Given the description of an element on the screen output the (x, y) to click on. 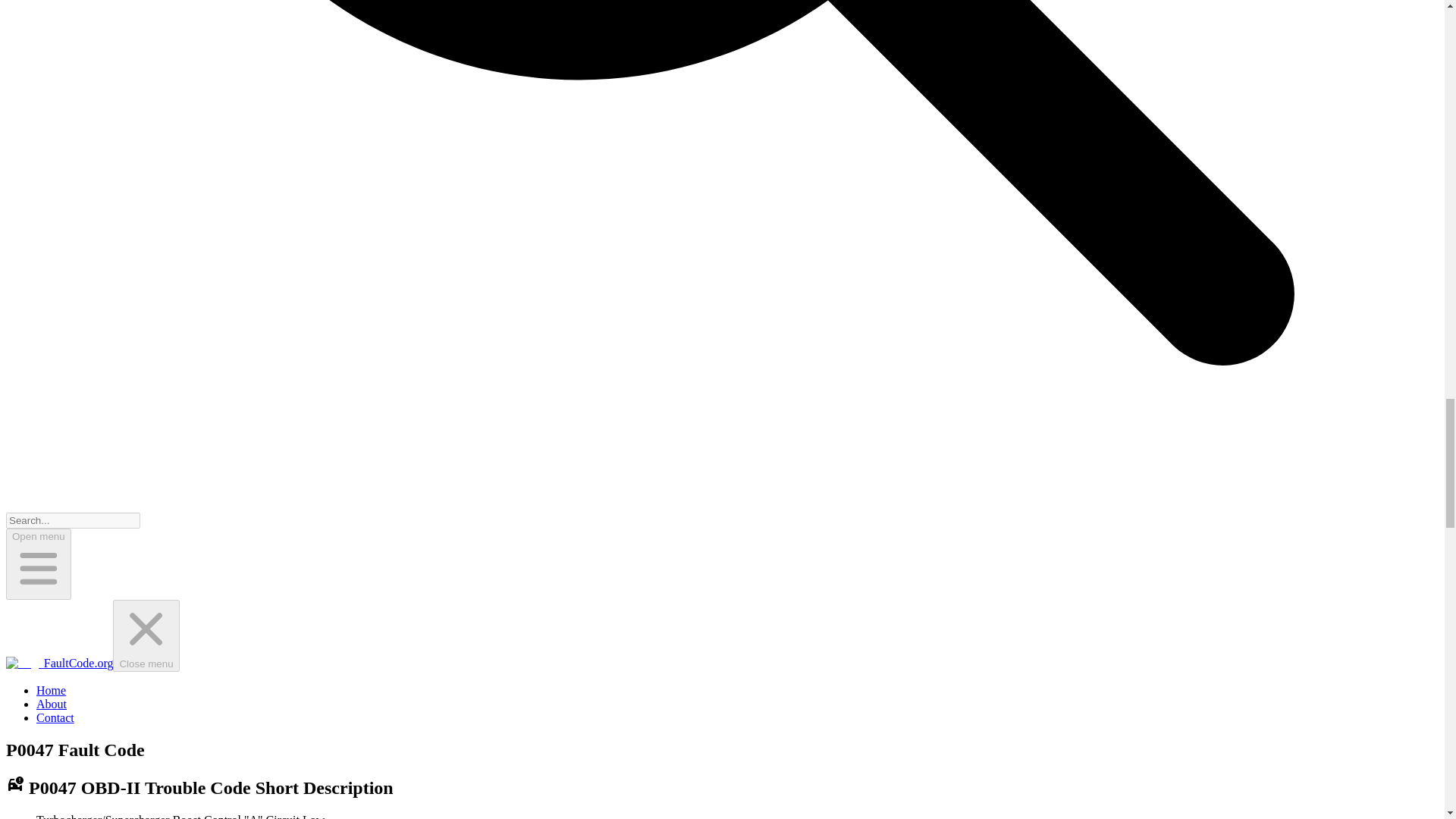
Contact (55, 717)
About (51, 703)
FaultCode.org (59, 662)
Close menu (146, 635)
Open menu (38, 563)
Home (50, 689)
